Given the description of an element on the screen output the (x, y) to click on. 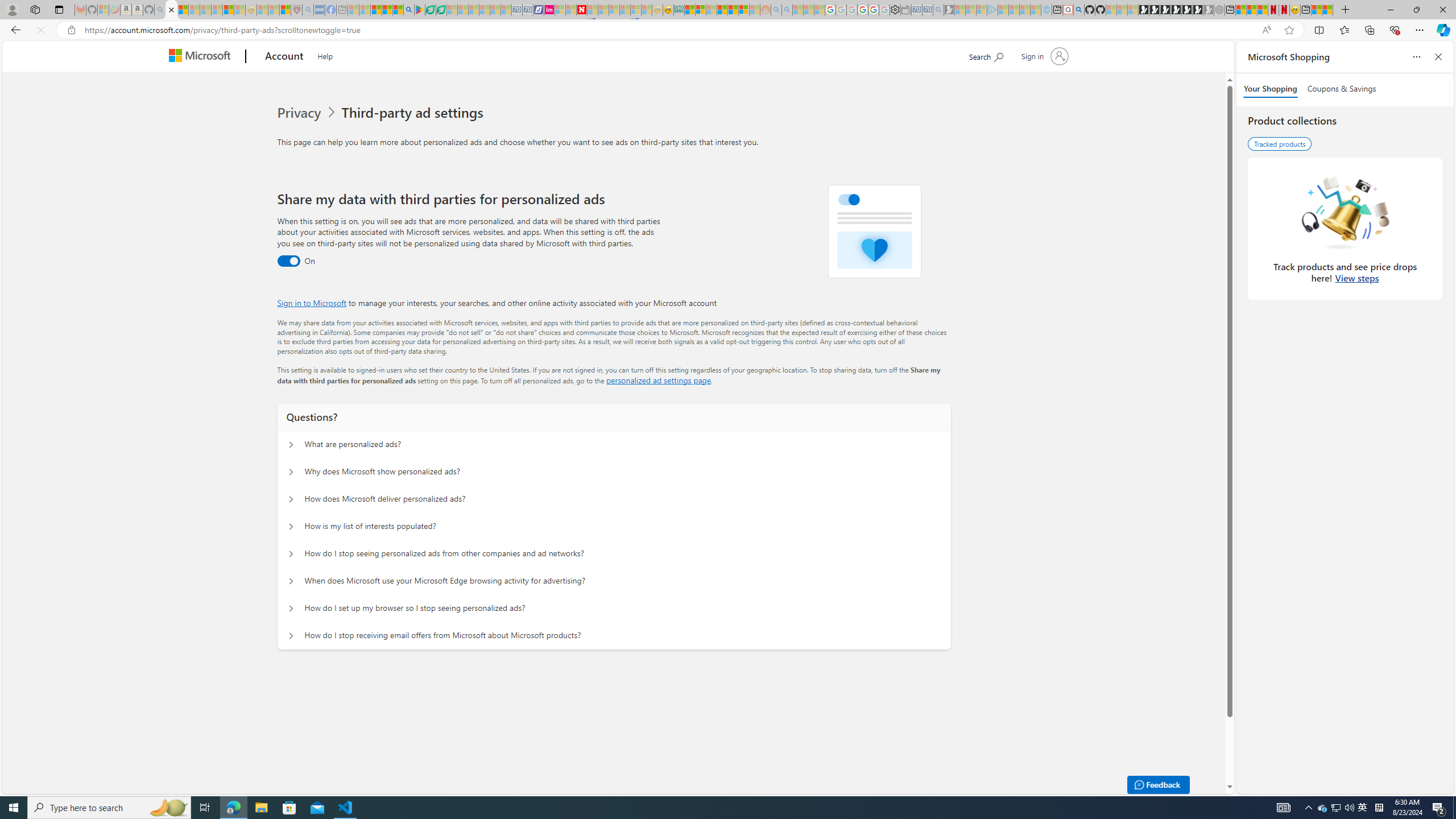
Terms of Use Agreement (430, 9)
